Given the description of an element on the screen output the (x, y) to click on. 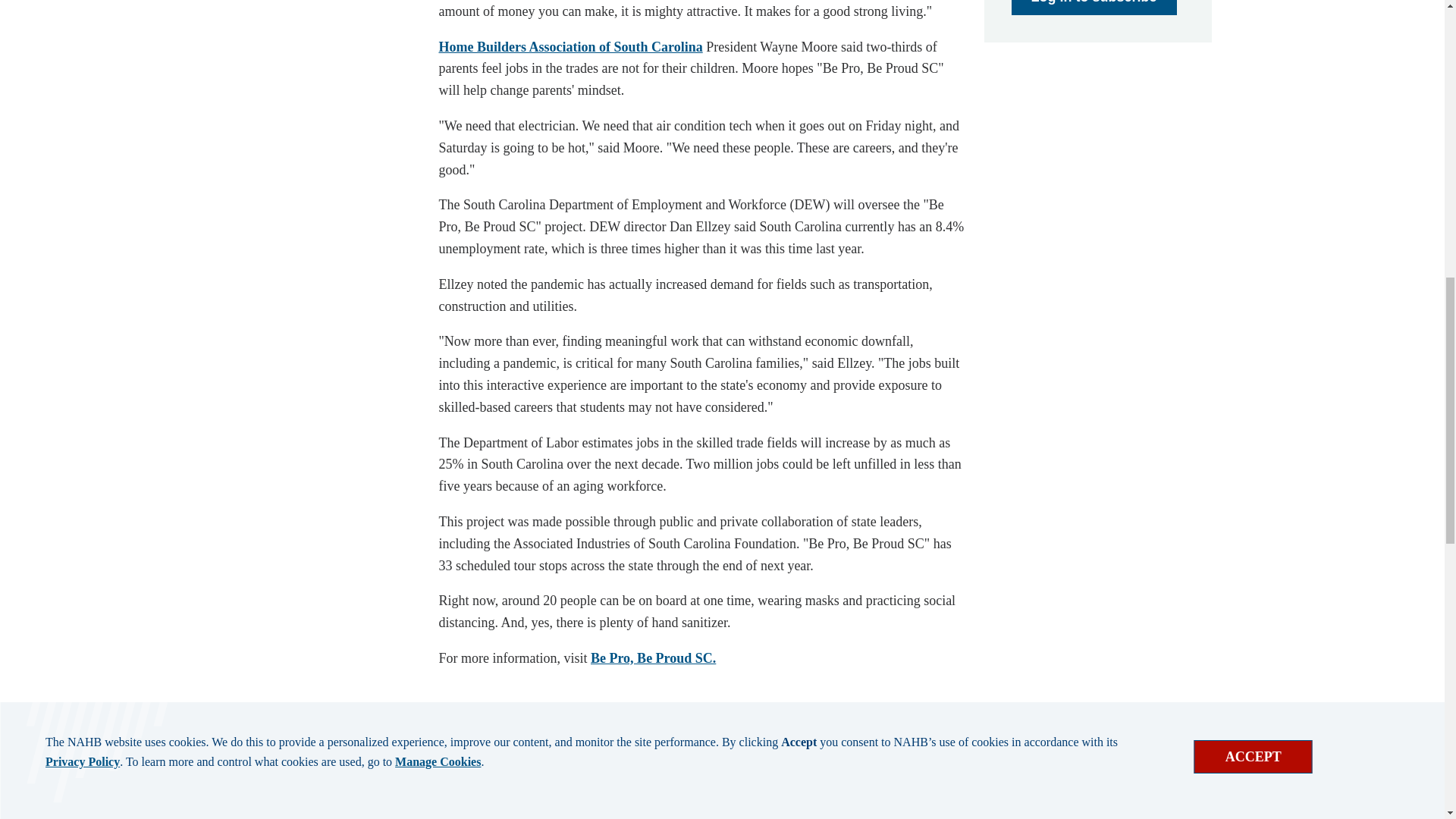
Opens a page (1093, 7)
